Given the description of an element on the screen output the (x, y) to click on. 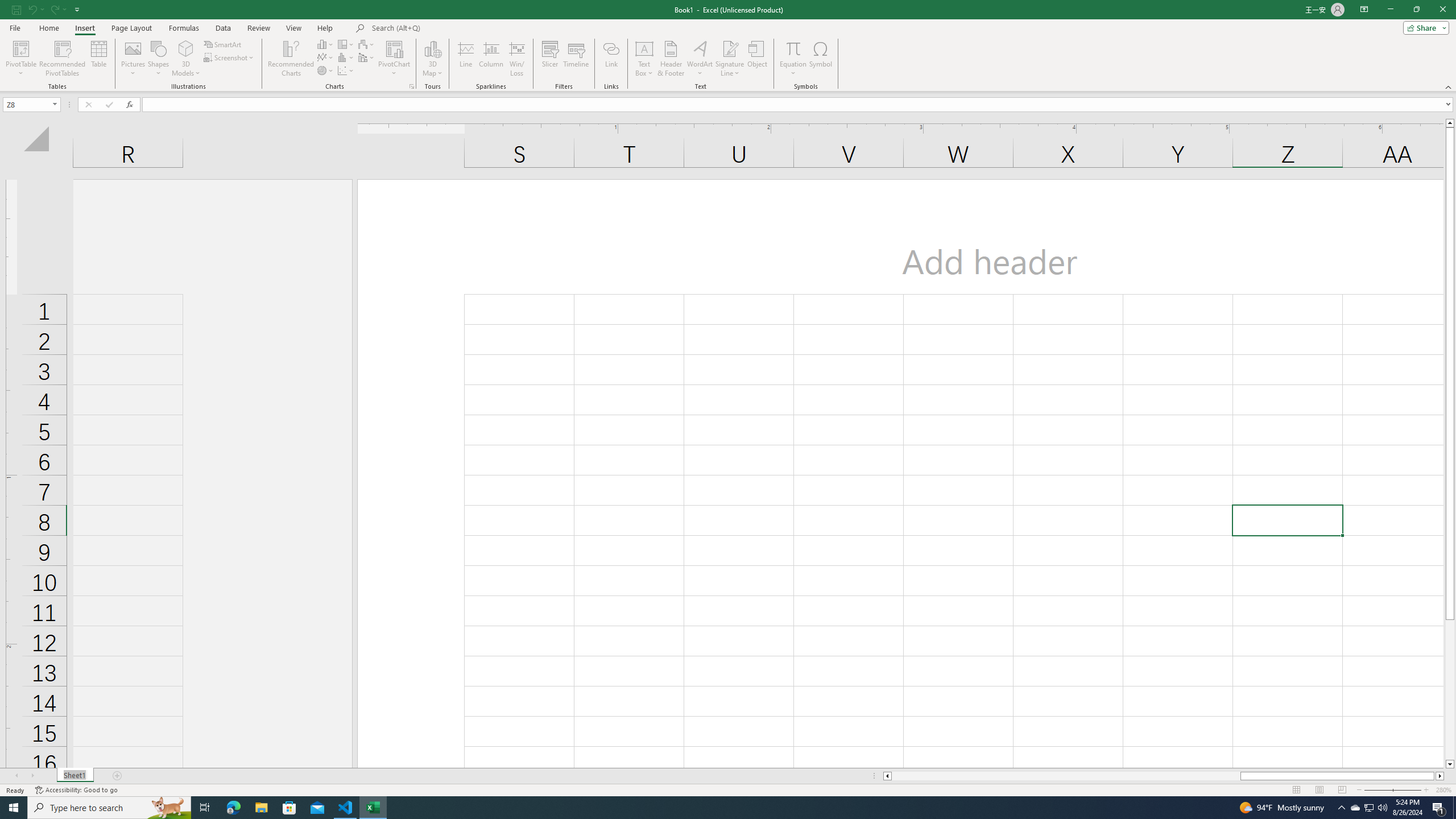
Header & Footer... (670, 58)
Line (465, 58)
PivotTable (20, 58)
PivotChart (394, 48)
Insert Hierarchy Chart (346, 44)
Insert Scatter (X, Y) or Bubble Chart (346, 69)
